Given the description of an element on the screen output the (x, y) to click on. 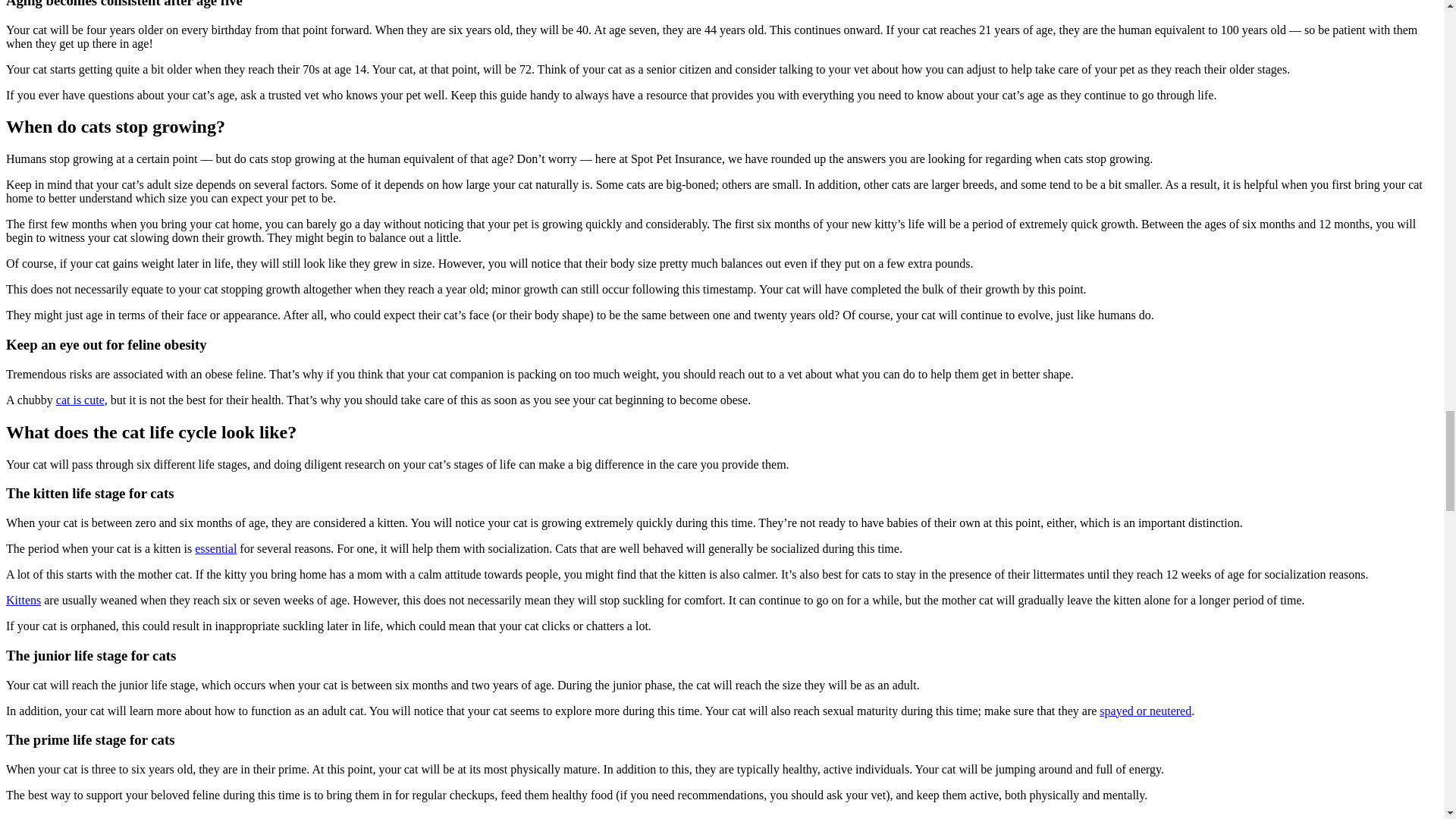
Kittens (22, 599)
essential (215, 548)
cat is cute (80, 399)
spayed or neutered (1145, 709)
